Given the description of an element on the screen output the (x, y) to click on. 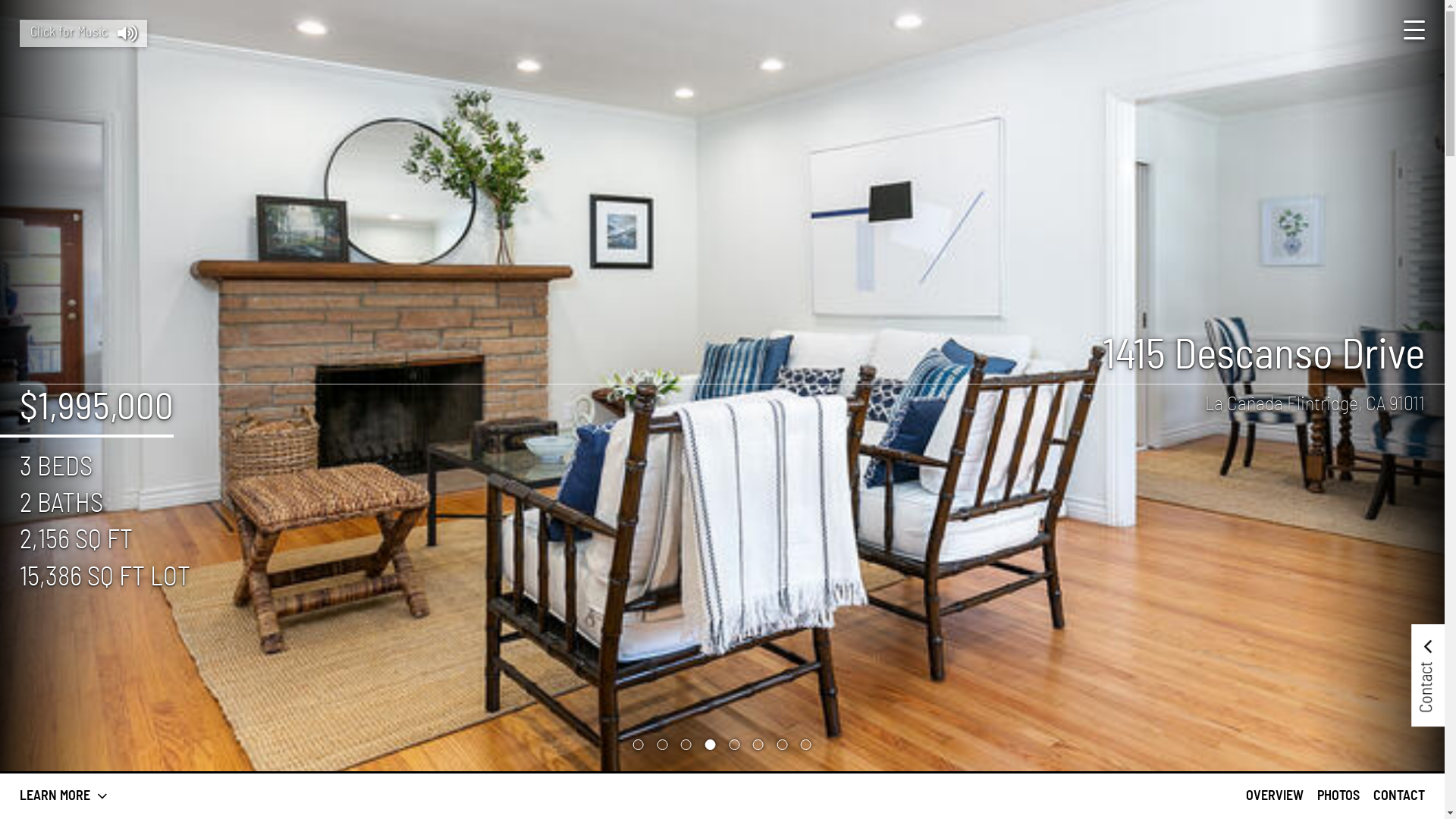
PHOTOS Element type: text (1338, 796)
CONTACT Element type: text (1398, 796)
OVERVIEW Element type: text (1274, 796)
